Given the description of an element on the screen output the (x, y) to click on. 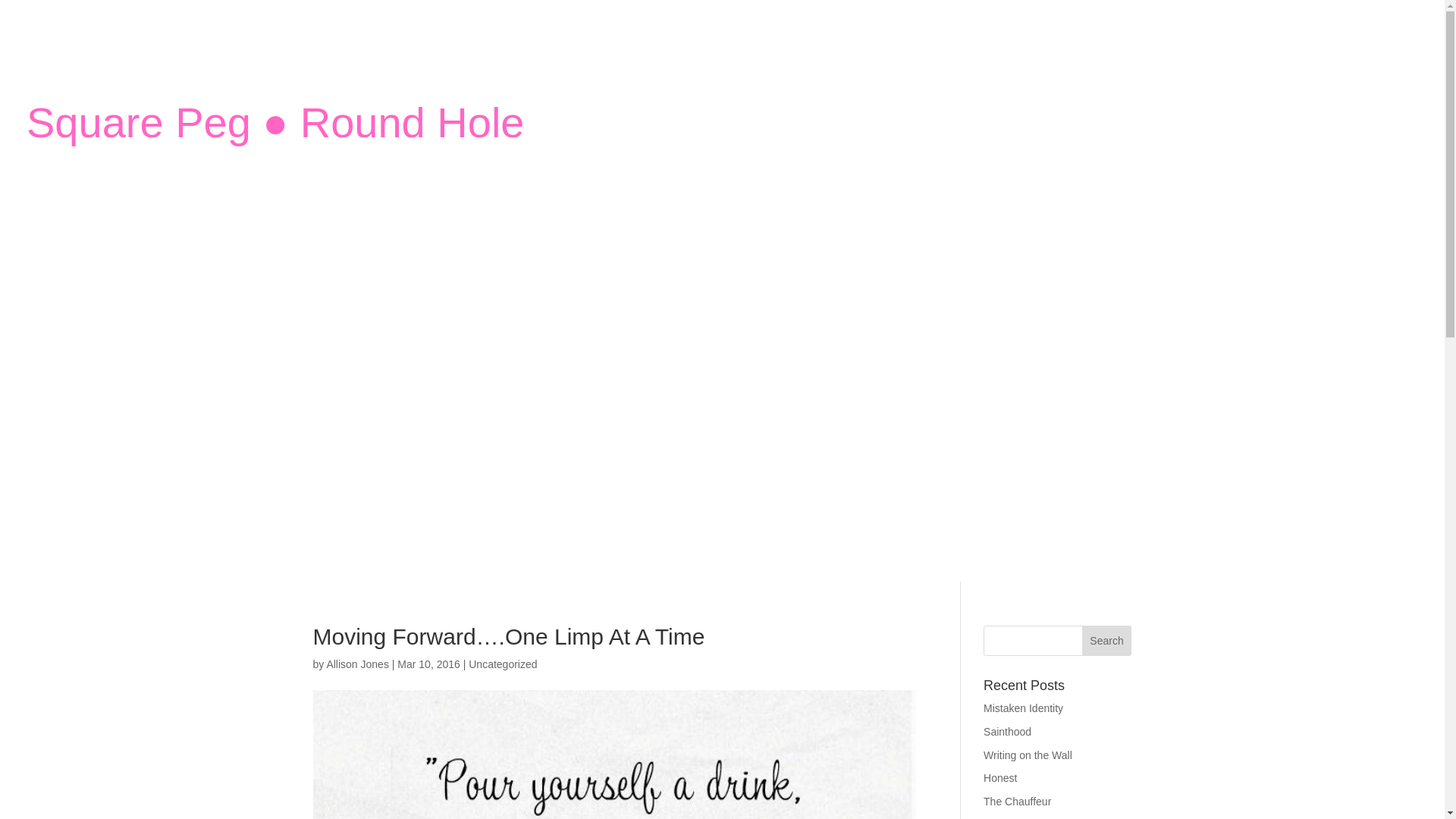
Uncategorized (502, 664)
Writing on the Wall (1027, 755)
Allison Jones (357, 664)
Sainthood (1007, 731)
The Chauffeur (1017, 801)
Mistaken Identity (1023, 707)
Posts by Allison Jones (357, 664)
Search (1106, 640)
Search (1106, 640)
Honest (1000, 777)
